Given the description of an element on the screen output the (x, y) to click on. 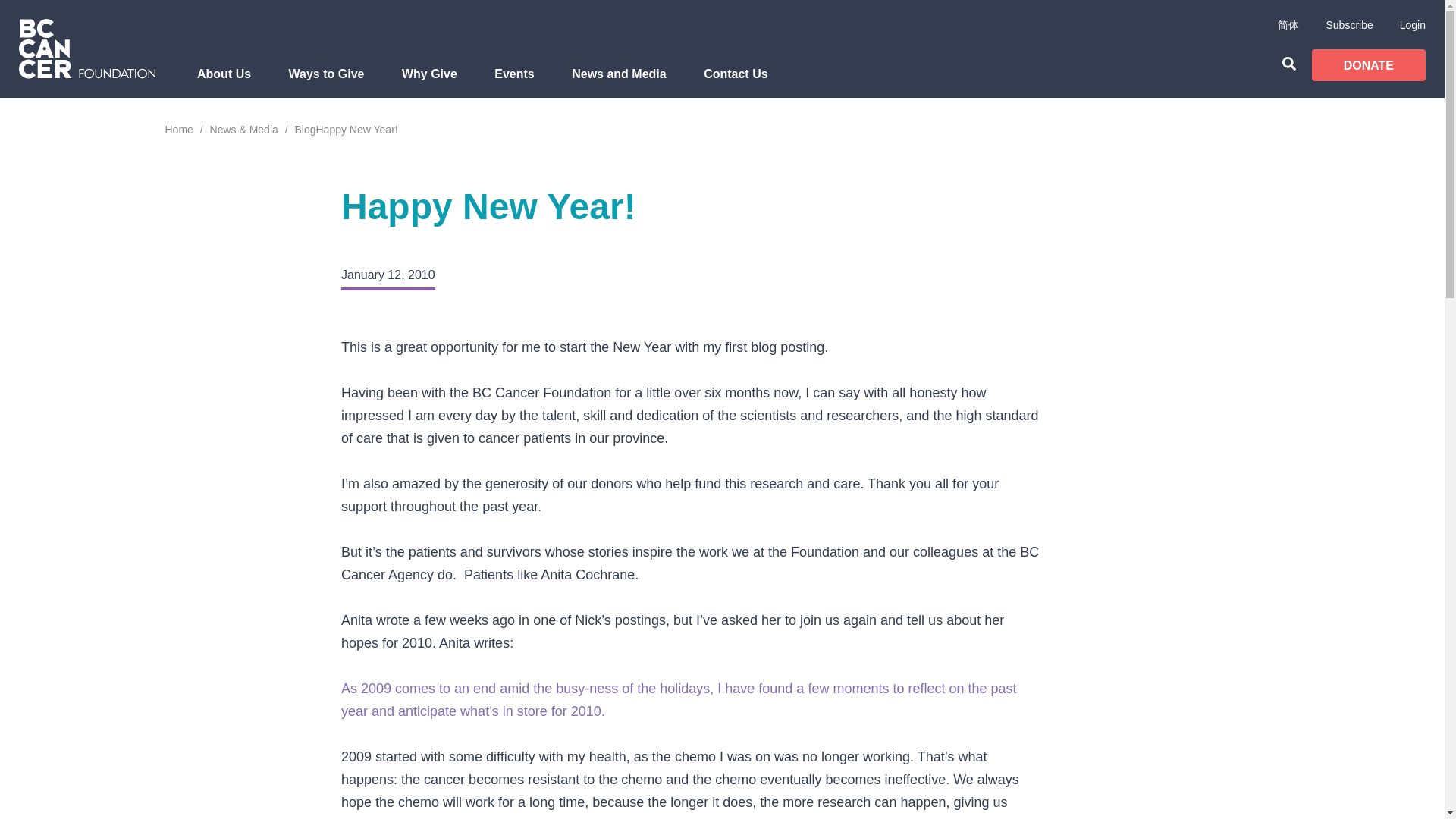
News and Media (618, 82)
About Us (223, 82)
Events (513, 82)
Blog (304, 129)
Home (179, 129)
Ways to Give (326, 82)
Subscribe (1348, 24)
Why Give (429, 82)
Login (1412, 24)
